Given the description of an element on the screen output the (x, y) to click on. 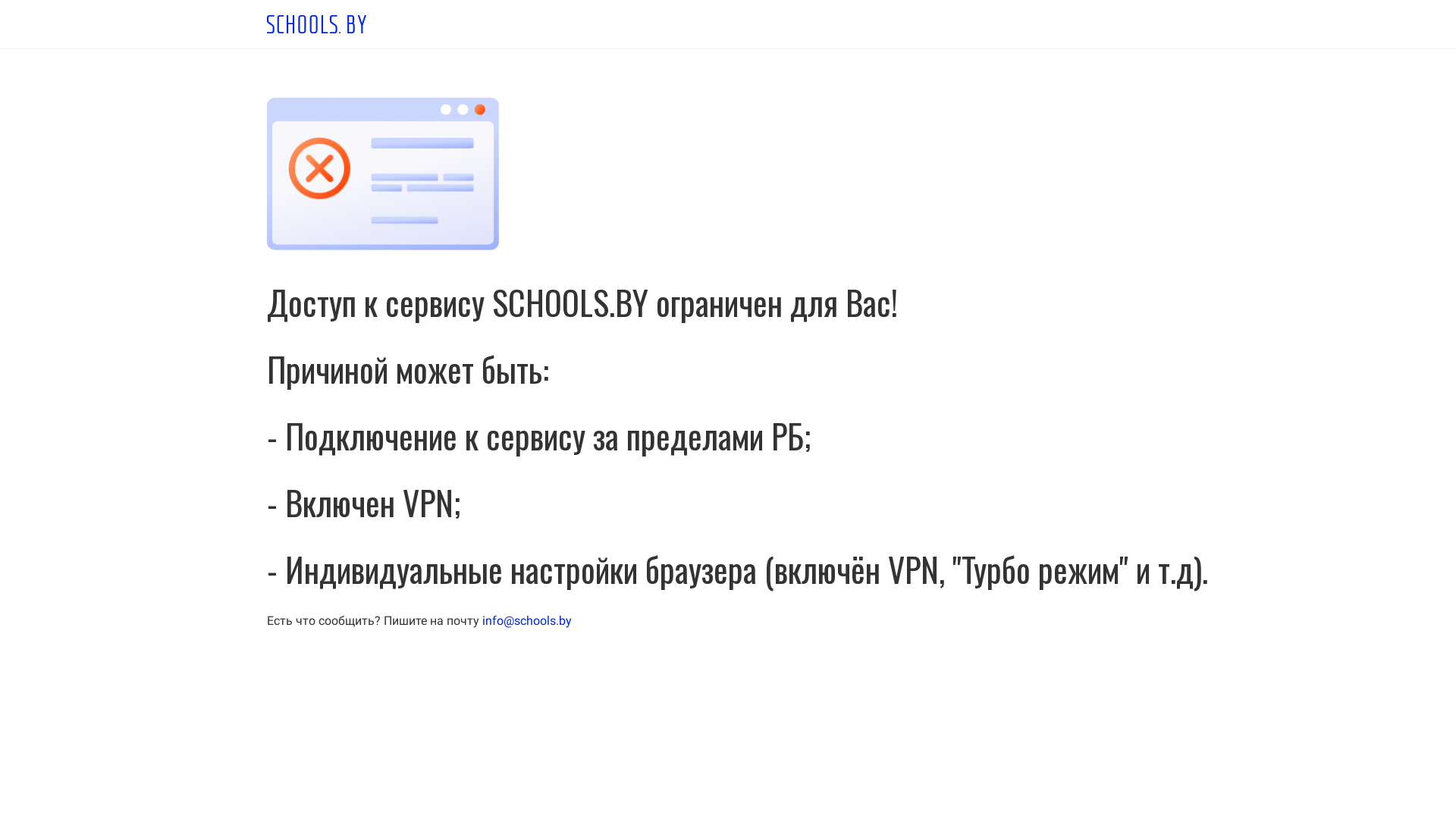
info@schools.by Element type: text (526, 620)
